Given the description of an element on the screen output the (x, y) to click on. 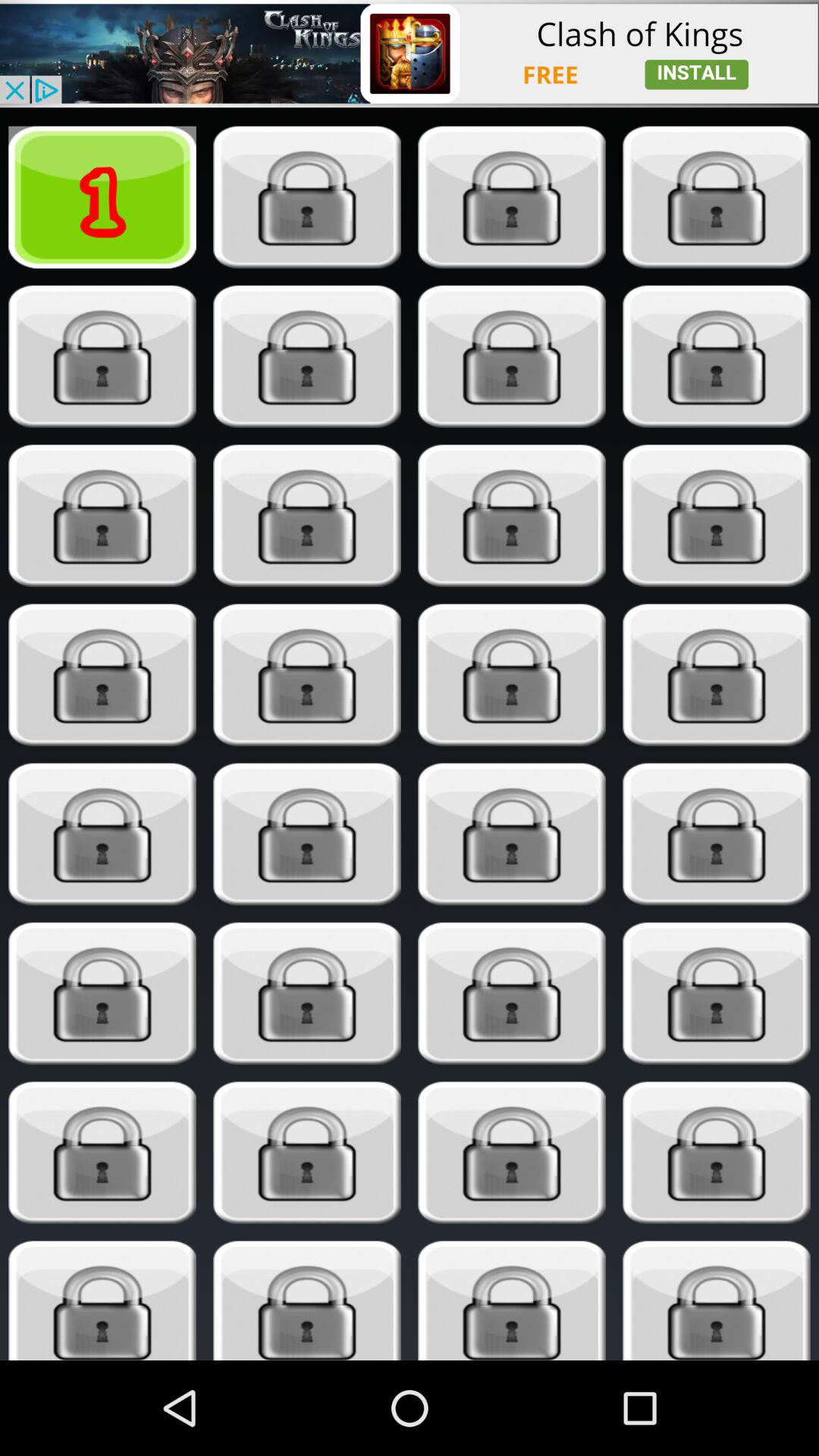
open advertisement (409, 53)
